Given the description of an element on the screen output the (x, y) to click on. 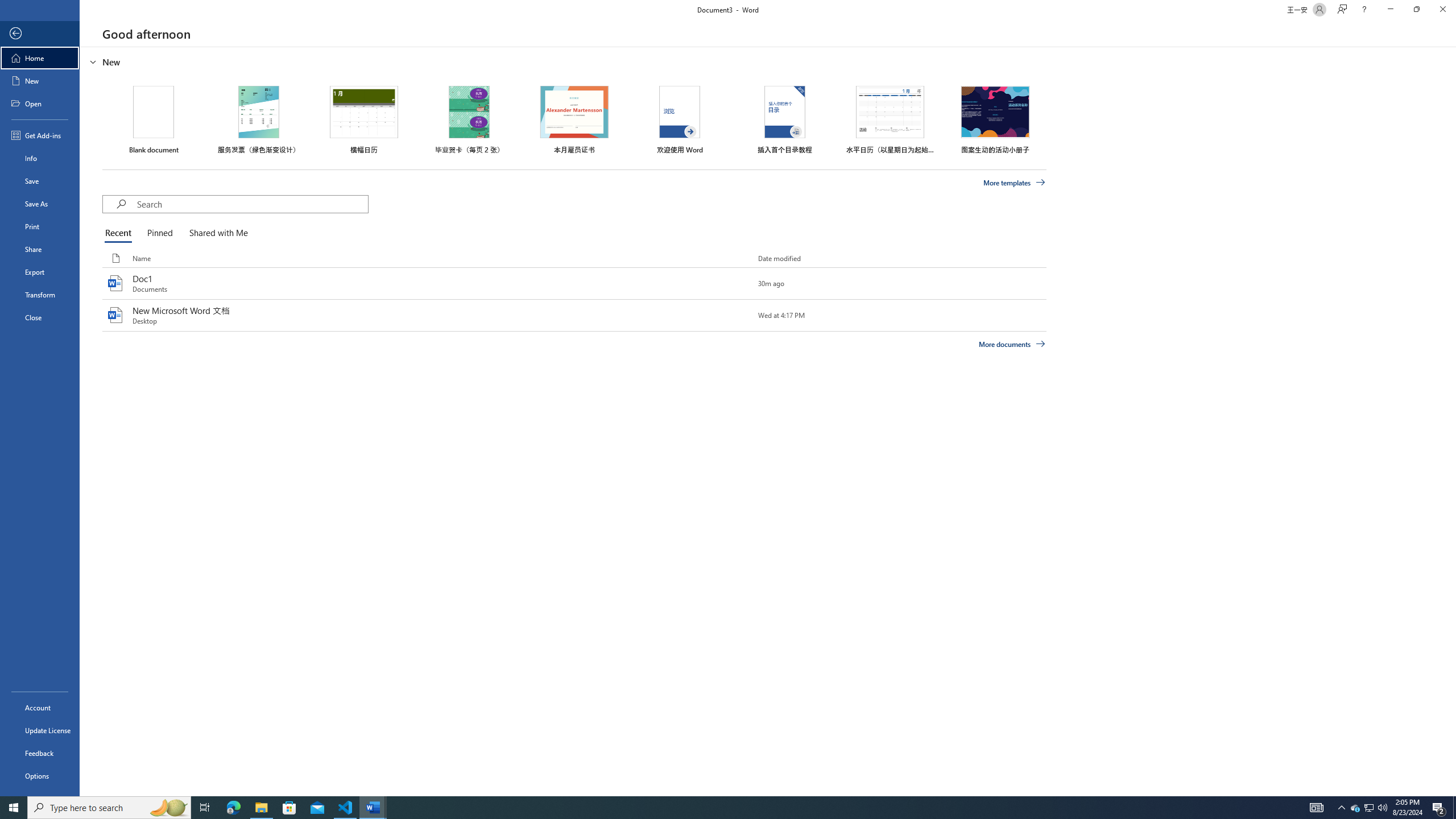
Save As (40, 203)
Hide or show region (92, 61)
Restore Down (1416, 9)
Doc1 (573, 283)
Help (1364, 9)
More documents (1011, 343)
Export (40, 271)
Save (40, 180)
Info (40, 157)
